Given the description of an element on the screen output the (x, y) to click on. 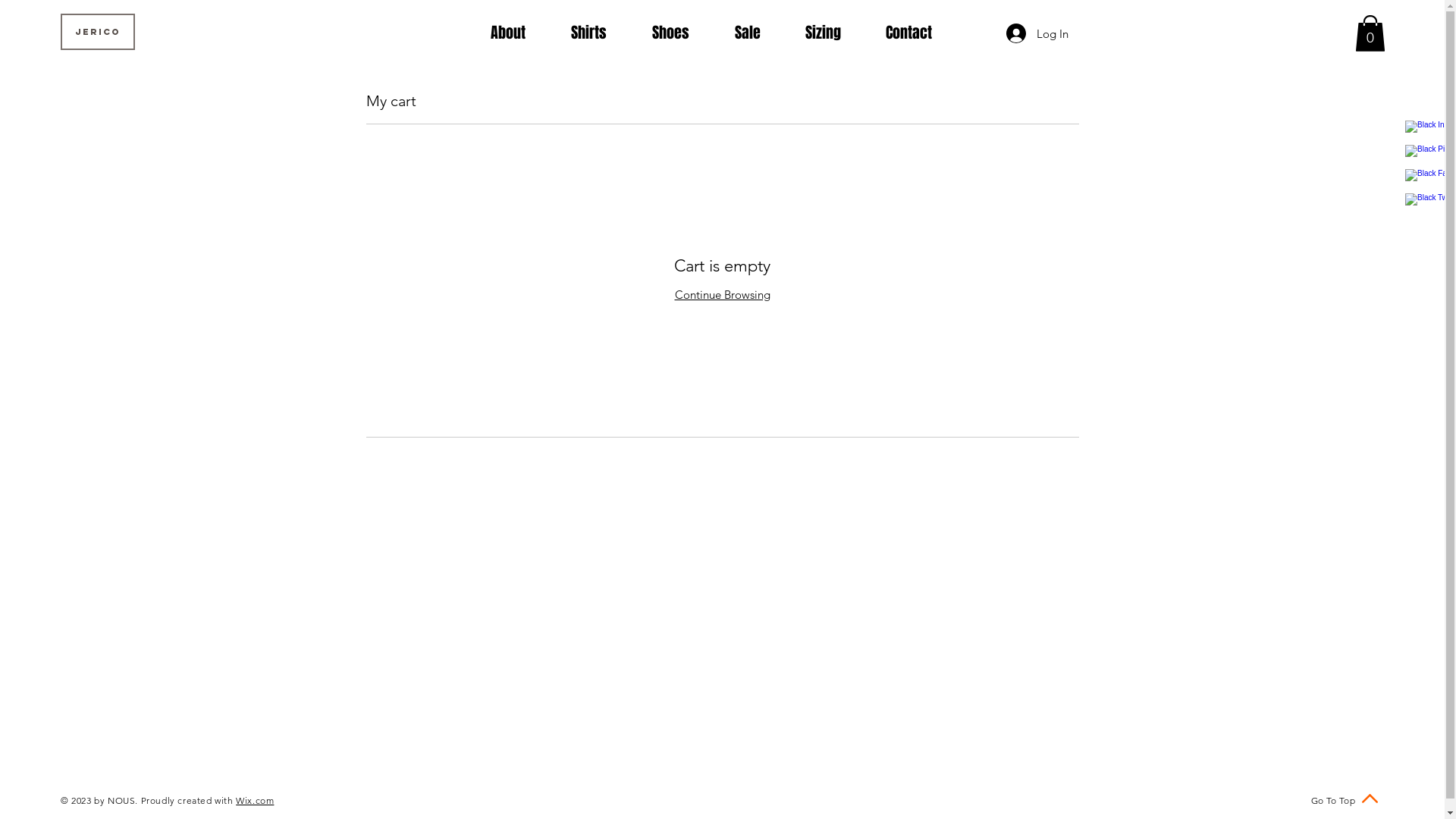
0 Element type: text (1370, 33)
Shirts Element type: text (599, 32)
Wix.com Element type: text (254, 800)
Shoes Element type: text (681, 32)
Go To Top Element type: text (1333, 800)
About Element type: text (519, 32)
Log In Element type: text (1036, 32)
Contact Element type: text (919, 32)
Sizing Element type: text (833, 32)
Continue Browsing Element type: text (722, 294)
Sale Element type: text (758, 32)
Jerico Element type: text (97, 31)
